Given the description of an element on the screen output the (x, y) to click on. 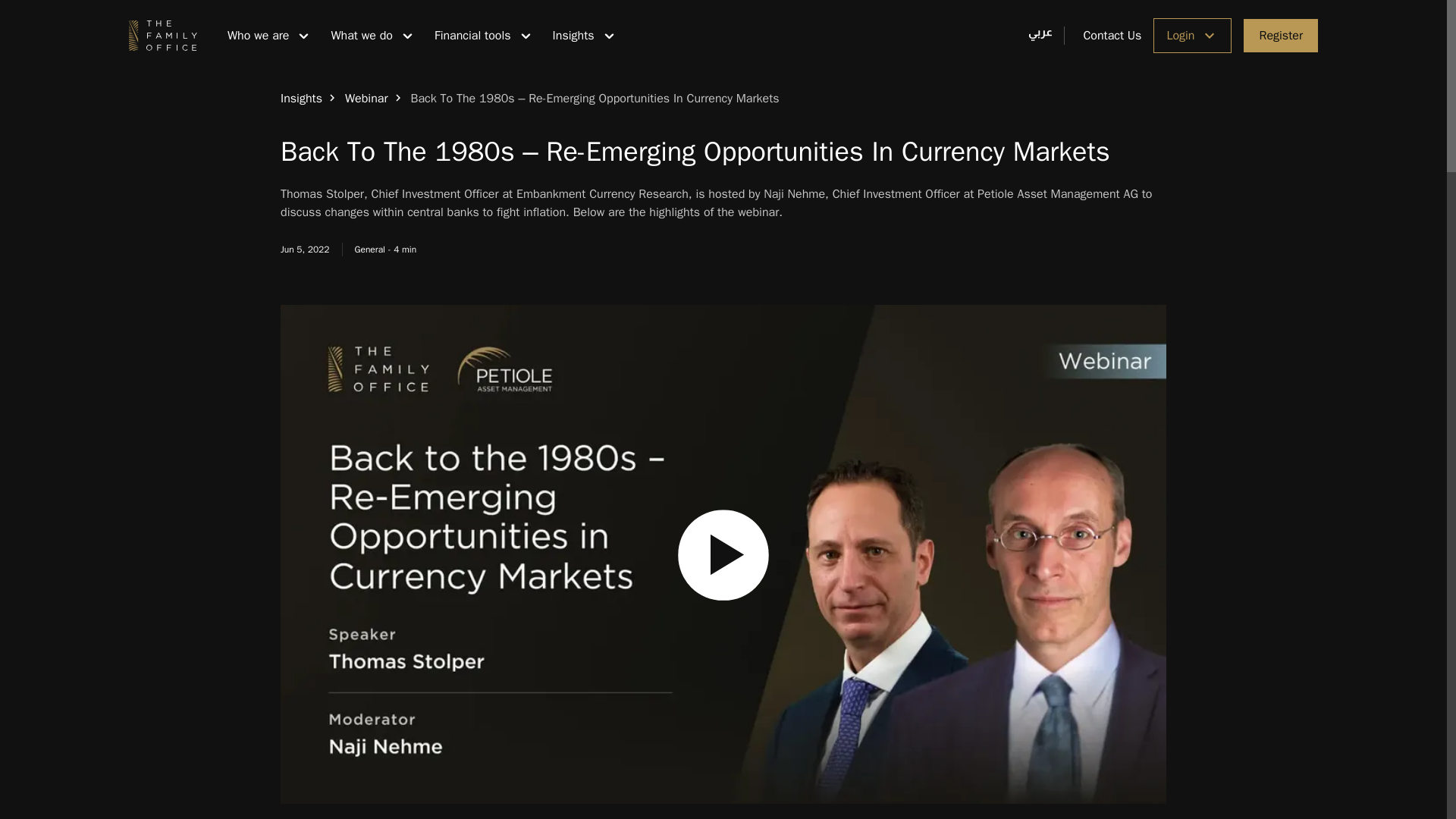
Contact Us (1102, 35)
Financial tools (480, 35)
Register (1280, 35)
Webinar (366, 98)
Login (1192, 35)
What we do (369, 35)
Insights (582, 35)
Insights (301, 98)
Who we are (266, 35)
